Given the description of an element on the screen output the (x, y) to click on. 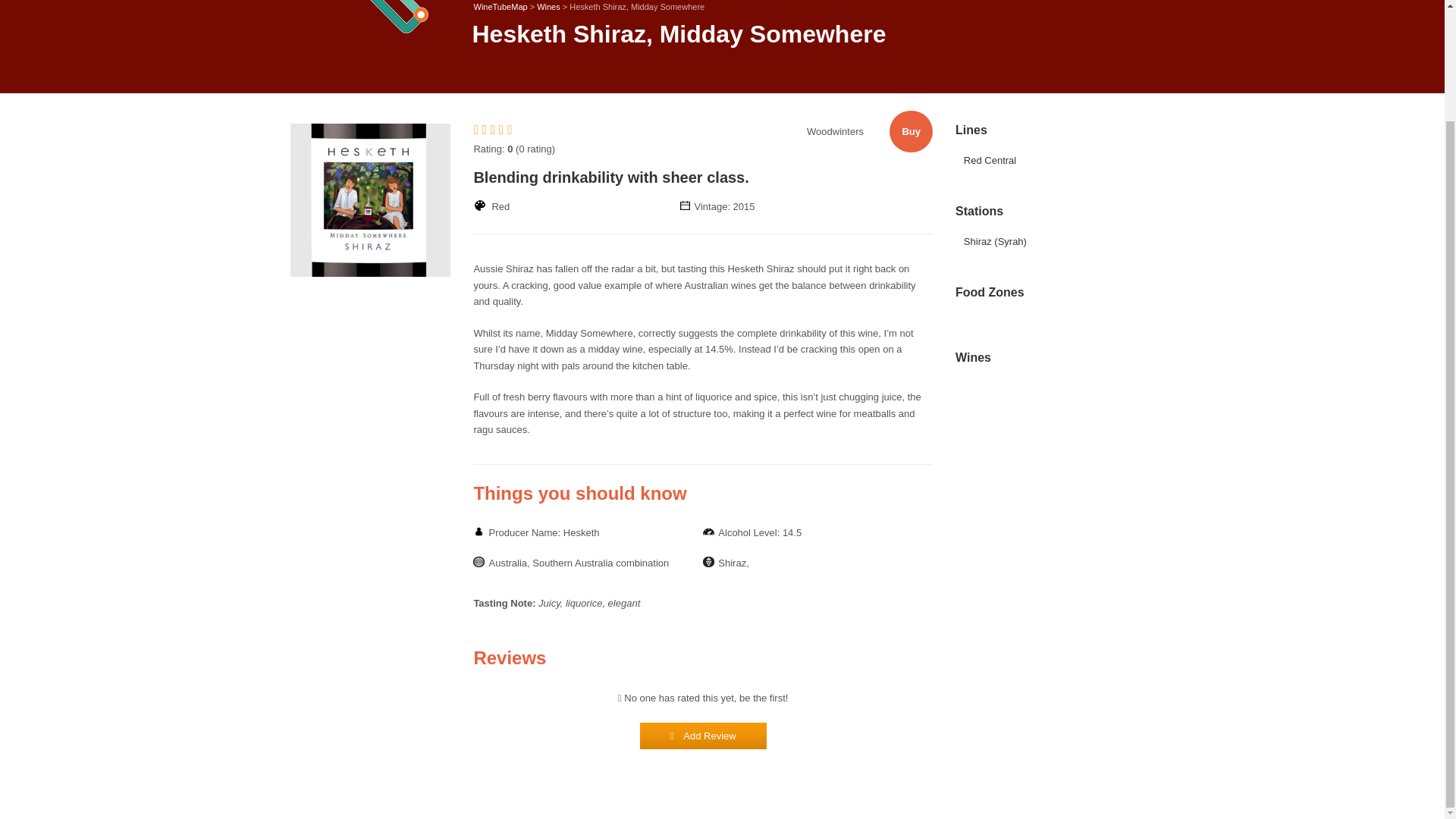
Buy (911, 131)
Rated 0 (494, 129)
Wines (548, 6)
Red Central (989, 160)
Go to the Wines category archives. (548, 6)
WineTubeMap (500, 6)
Add Review (703, 735)
Add Your Review (703, 735)
Go to WineTubeMap. (500, 6)
